Given the description of an element on the screen output the (x, y) to click on. 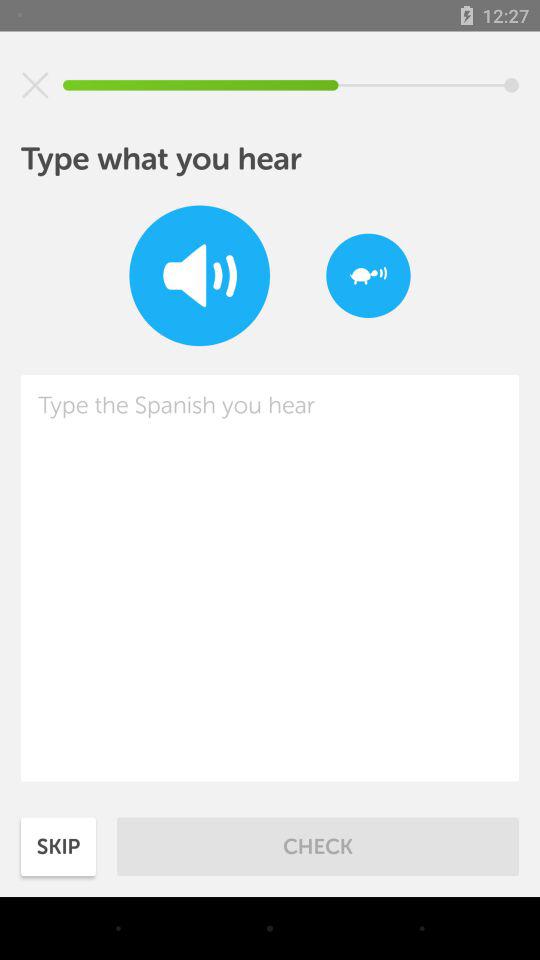
open the item next to check (58, 846)
